Given the description of an element on the screen output the (x, y) to click on. 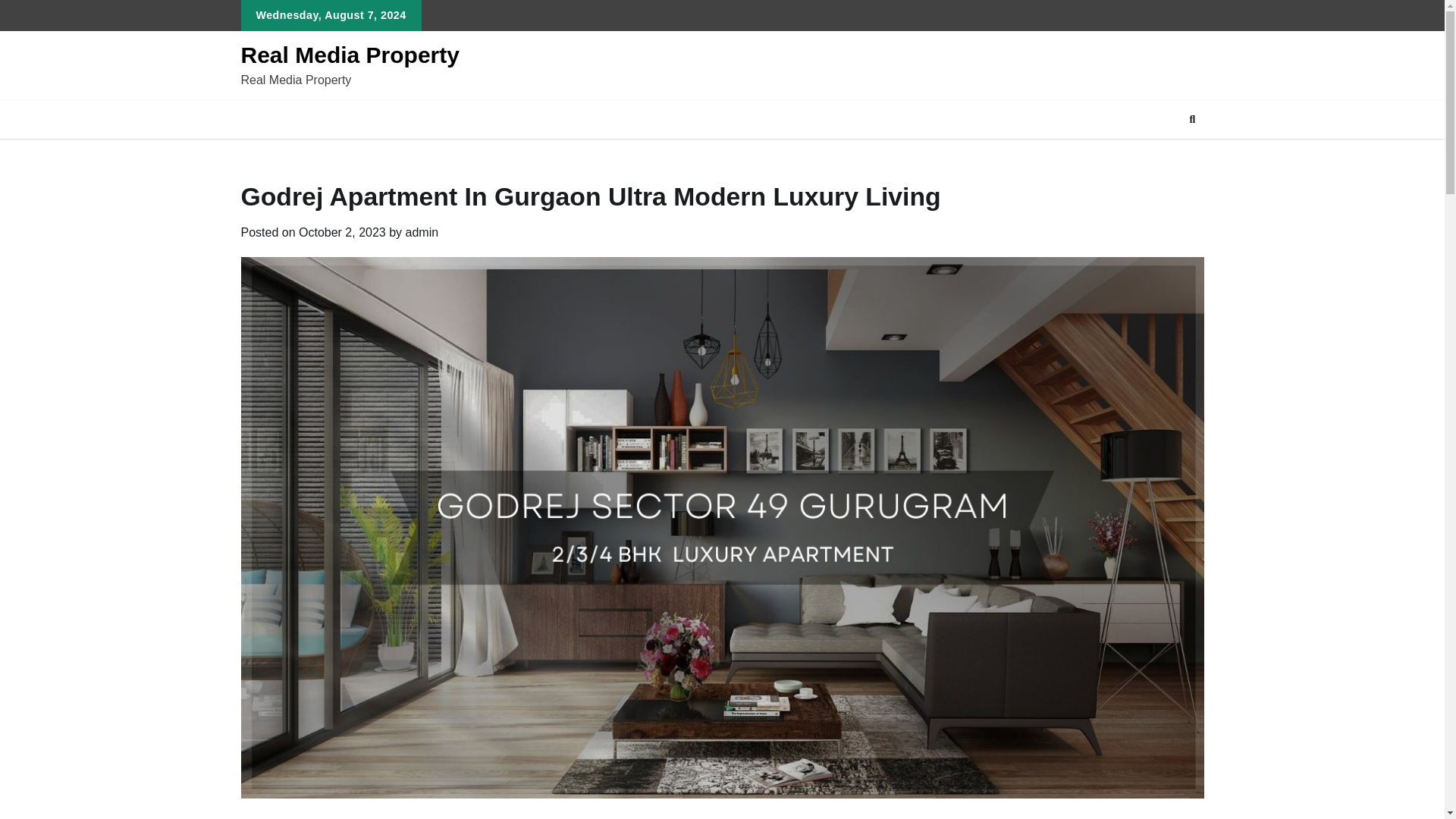
Search (1164, 154)
October 2, 2023 (341, 232)
Real Media Property (350, 54)
Search (1192, 119)
admin (422, 232)
